Given the description of an element on the screen output the (x, y) to click on. 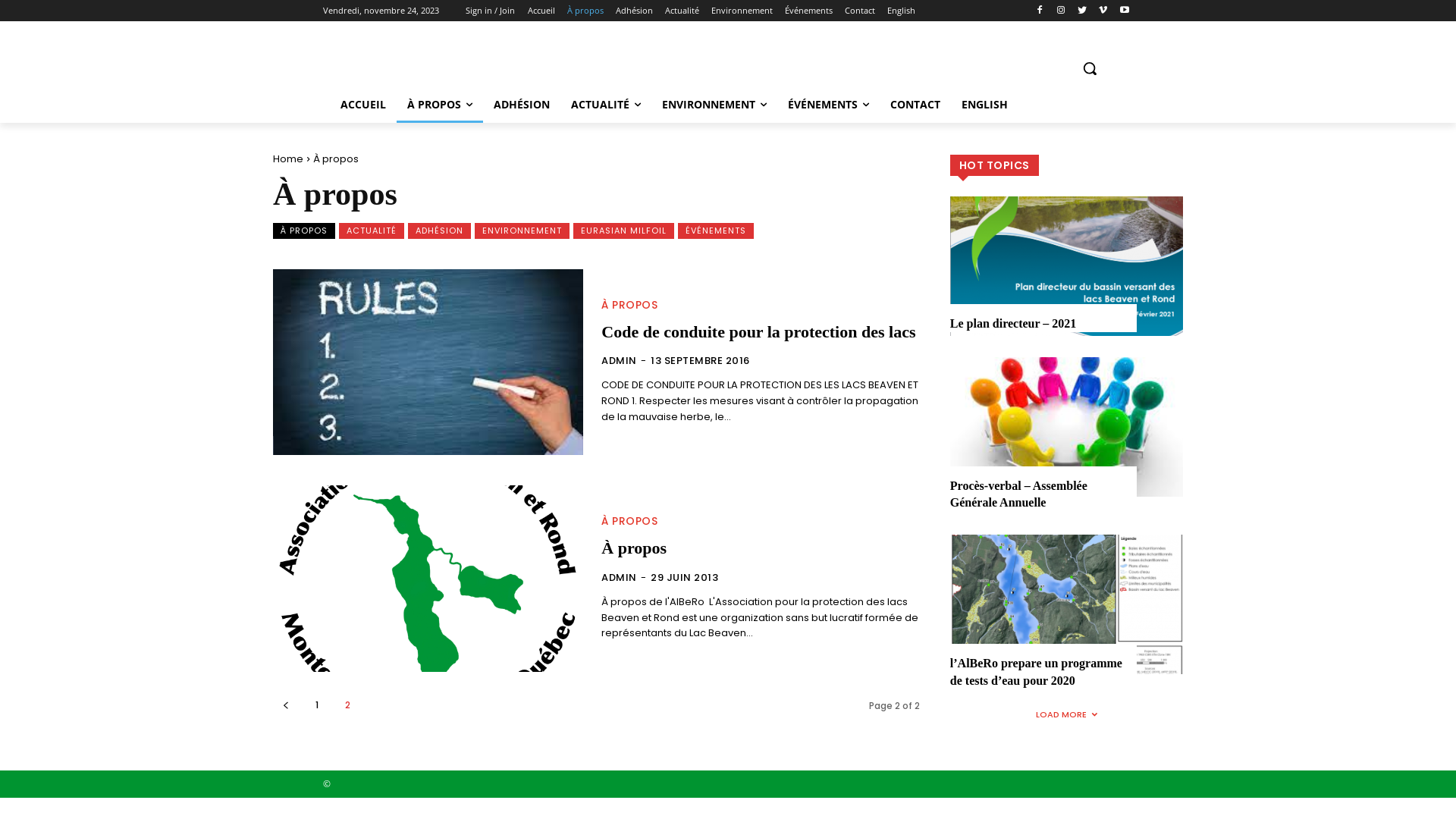
CONTACT Element type: text (914, 104)
Home Element type: text (288, 158)
ADMIN Element type: text (619, 577)
EURASIAN MILFOIL Element type: text (623, 230)
English Element type: text (901, 10)
Contact Element type: text (859, 10)
ENGLISH Element type: text (984, 104)
ACCUEIL Element type: text (362, 104)
ENVIRONNEMENT Element type: text (714, 104)
Instagram Element type: hover (1061, 9)
LOAD MORE Element type: text (1066, 714)
Twitter Element type: hover (1082, 9)
Code de conduite pour la protection des lacs Element type: text (758, 331)
Accueil Element type: text (541, 10)
1 Element type: text (316, 704)
Environnement Element type: text (741, 10)
Youtube Element type: hover (1123, 9)
ADMIN Element type: text (619, 360)
Facebook Element type: hover (1039, 9)
ENVIRONNEMENT Element type: text (521, 230)
Code de conduite pour la protection des lacs Element type: hover (428, 362)
Vimeo Element type: hover (1102, 9)
Sign in / Join Element type: text (489, 10)
